Given the description of an element on the screen output the (x, y) to click on. 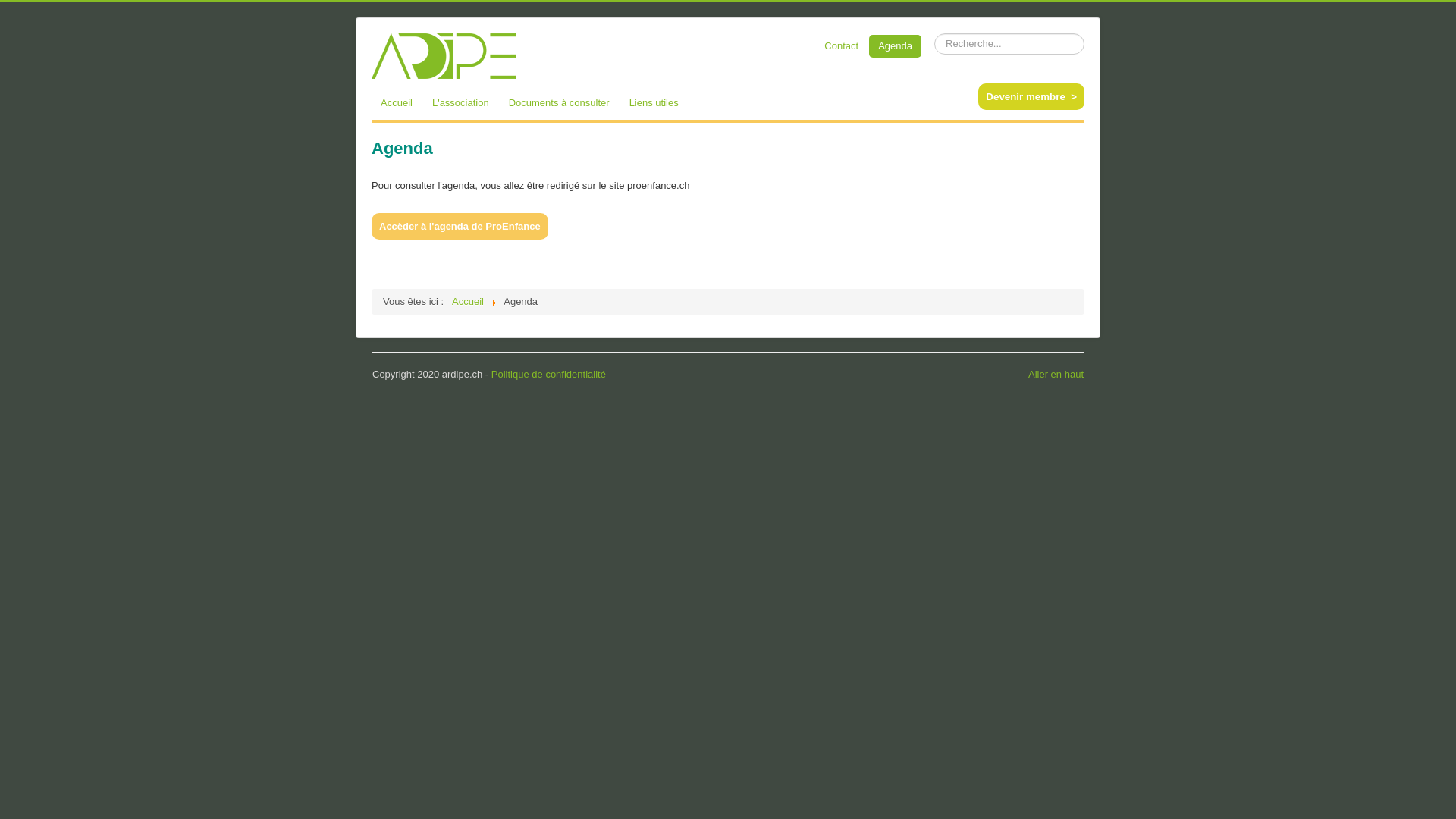
Accueil Element type: text (467, 301)
Contact Element type: text (841, 45)
Agenda Element type: text (895, 45)
Aller en haut Element type: text (1055, 373)
Liens utiles Element type: text (653, 102)
L'association Element type: text (460, 102)
Devenir membre  > Element type: text (1030, 96)
Accueil Element type: text (396, 102)
